Given the description of an element on the screen output the (x, y) to click on. 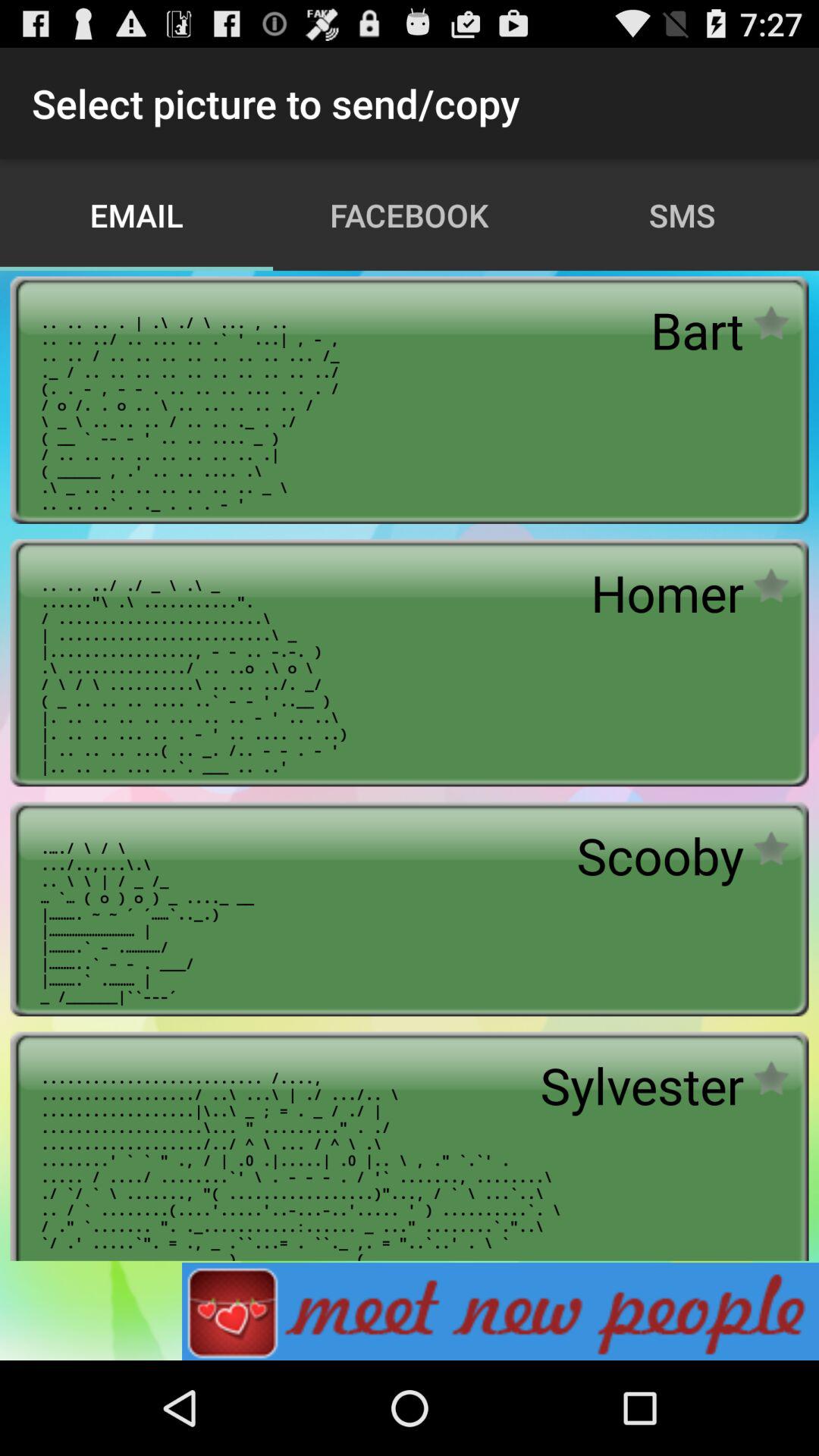
press item below the _ _ 0 icon (500, 1311)
